Given the description of an element on the screen output the (x, y) to click on. 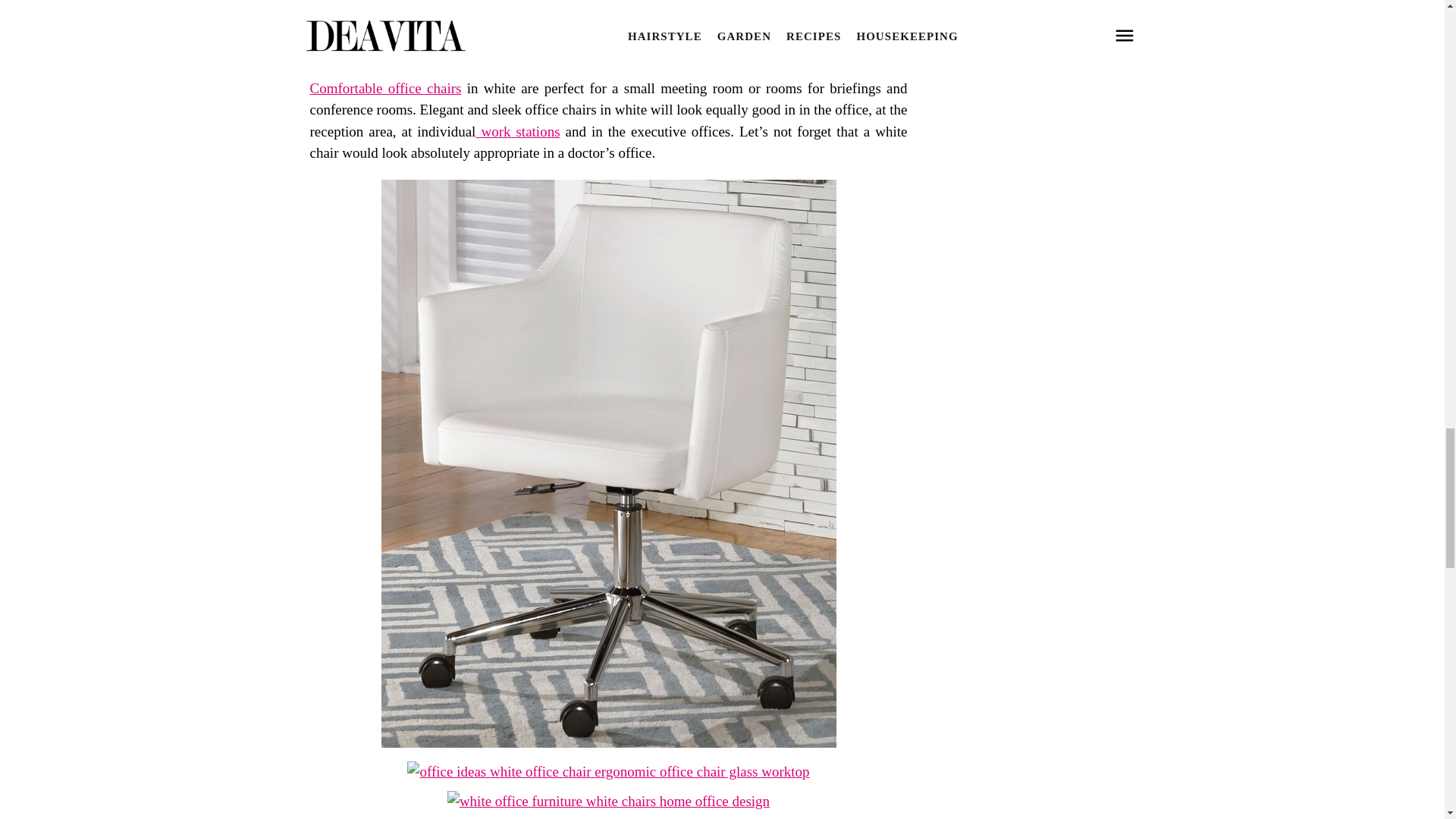
White modern office chair elegant design (607, 741)
